Given the description of an element on the screen output the (x, y) to click on. 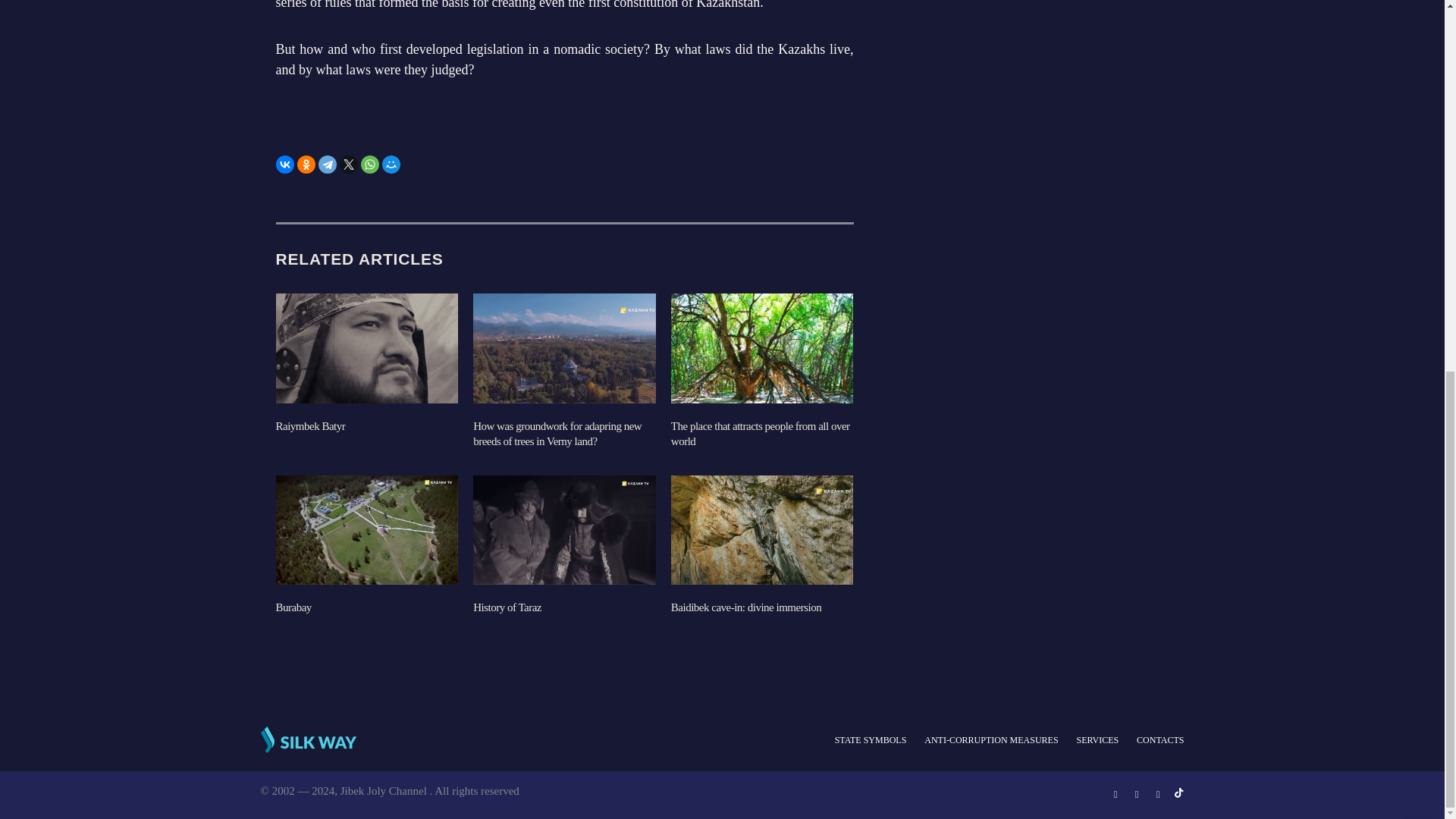
Odnoklassniki (306, 164)
WhatsApp (369, 164)
Moy Mir (390, 164)
Twitter (348, 164)
VKontakte (285, 164)
Telegram (327, 164)
